Given the description of an element on the screen output the (x, y) to click on. 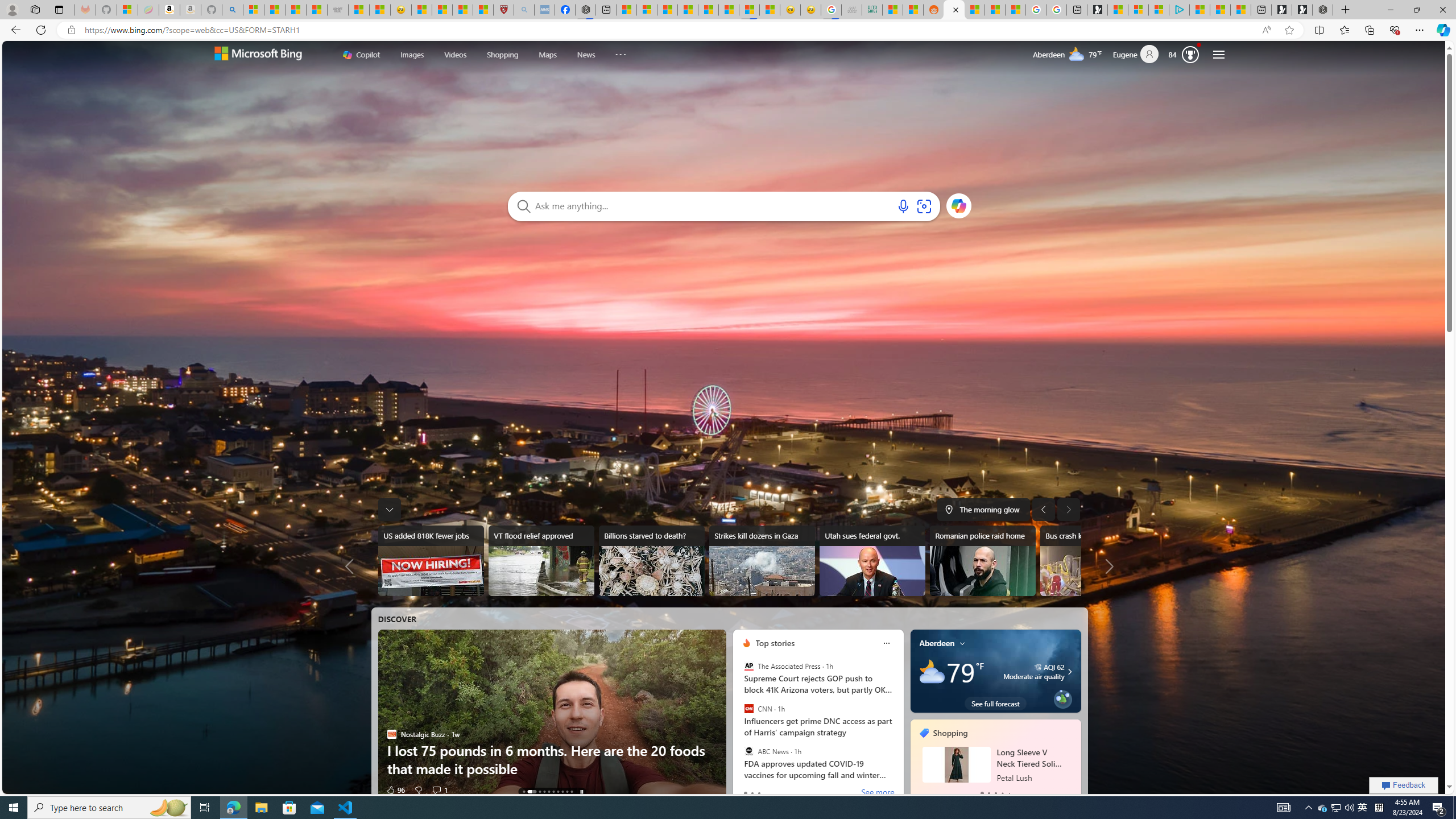
ABC News (749, 750)
tab-2 (994, 793)
Images (411, 54)
Class: eplant-bubble (1061, 699)
Maps (547, 54)
Aberdeen (936, 643)
Previous news (352, 566)
Class: icon-img (962, 643)
AutomationID: tab-3 (543, 791)
